Given the description of an element on the screen output the (x, y) to click on. 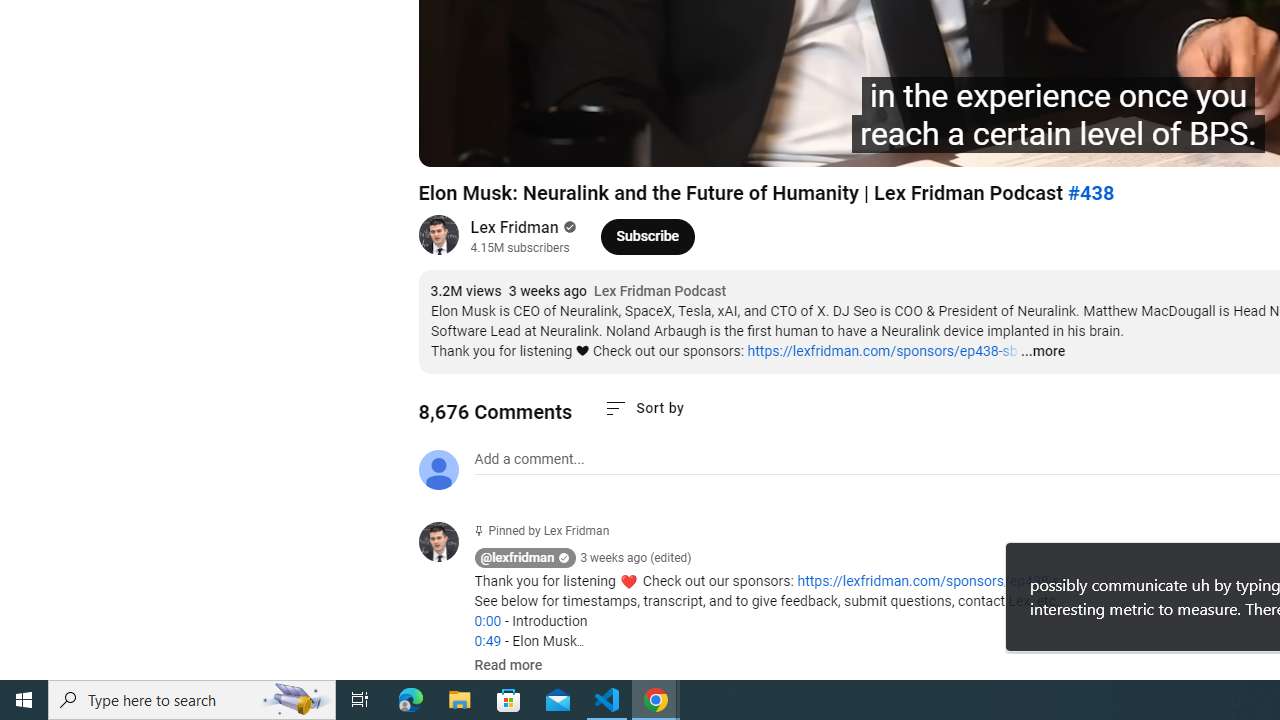
...more (1042, 352)
Read more (507, 665)
AutomationID: simplebox-placeholder (528, 459)
Default profile photo (438, 470)
Subscribe to Lex Fridman. (648, 236)
https://lexfridman.com/sponsors/ep438-sb (882, 351)
